Given the description of an element on the screen output the (x, y) to click on. 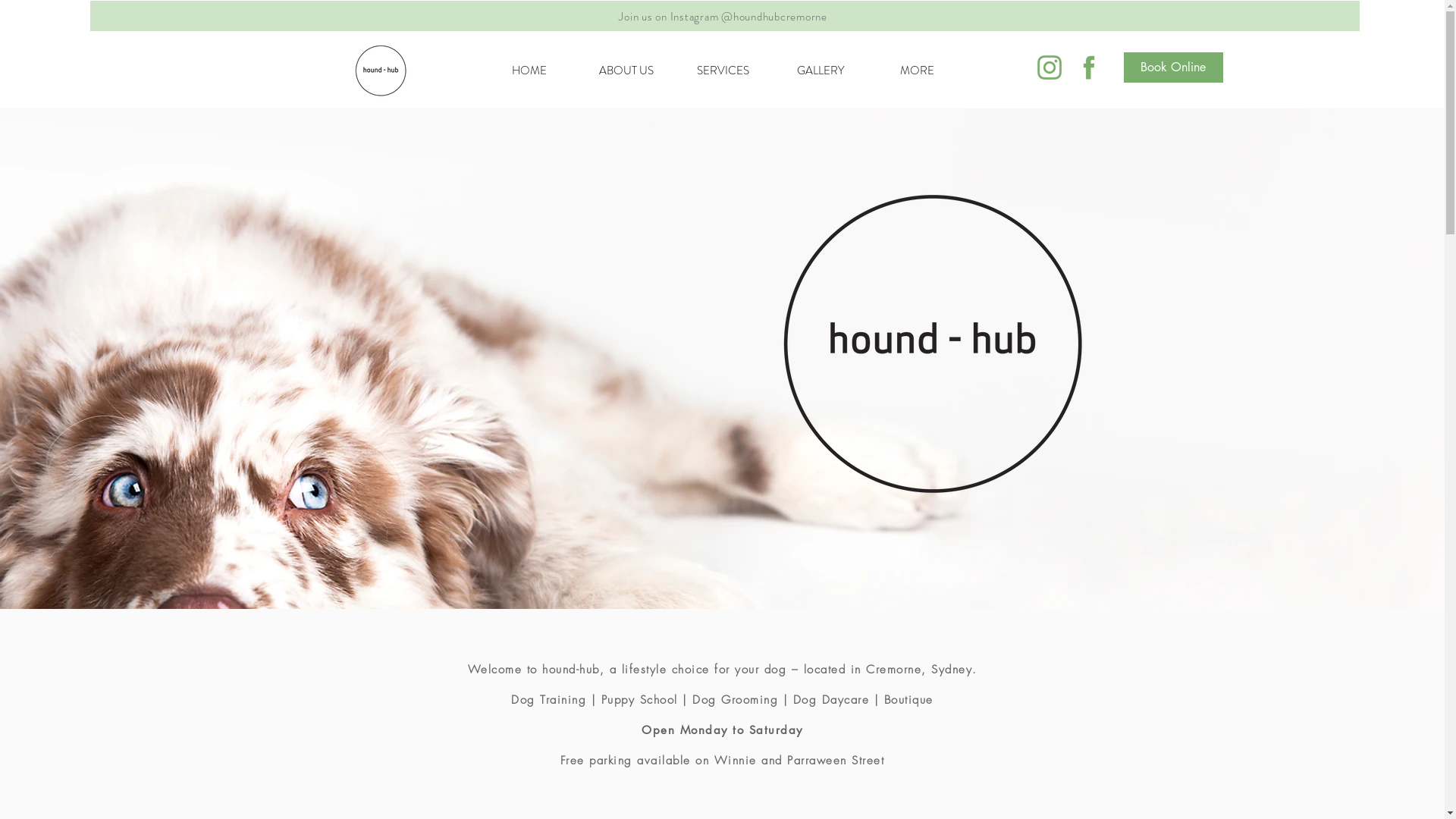
GALLERY Element type: text (820, 70)
SERVICES Element type: text (722, 70)
HOME Element type: text (528, 70)
ABOUT US Element type: text (625, 70)
Join us on Instagram @houndhubcremorne Element type: text (722, 16)
Book Online Element type: text (1173, 67)
